Given the description of an element on the screen output the (x, y) to click on. 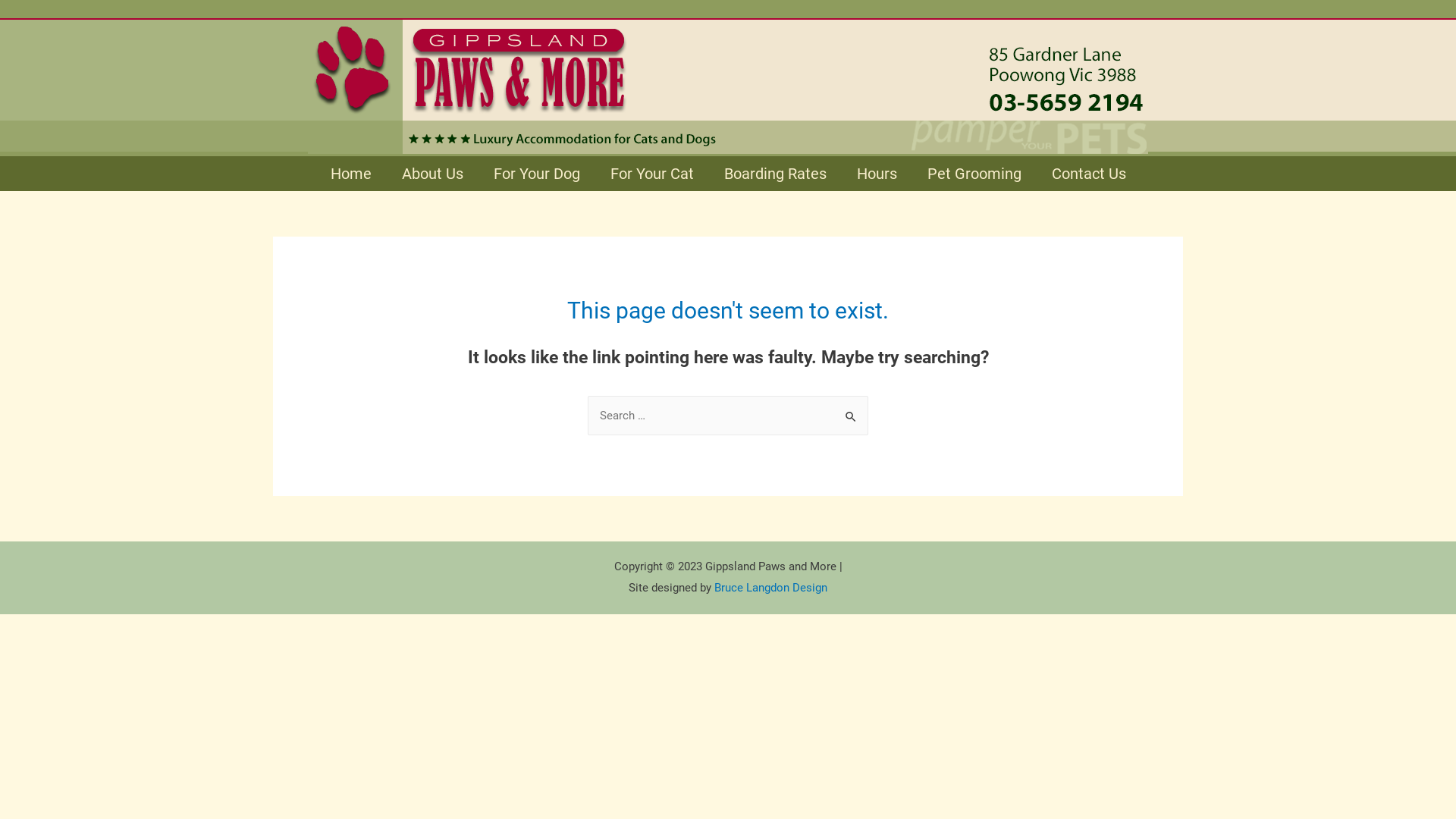
Search Element type: text (851, 410)
For Your Cat Element type: text (651, 173)
Bruce Langdon Design Element type: text (770, 587)
Contact Us Element type: text (1087, 173)
About Us Element type: text (432, 173)
Boarding Rates Element type: text (774, 173)
Pet Grooming Element type: text (973, 173)
Hours Element type: text (876, 173)
For Your Dog Element type: text (535, 173)
Home Element type: text (350, 173)
